Given the description of an element on the screen output the (x, y) to click on. 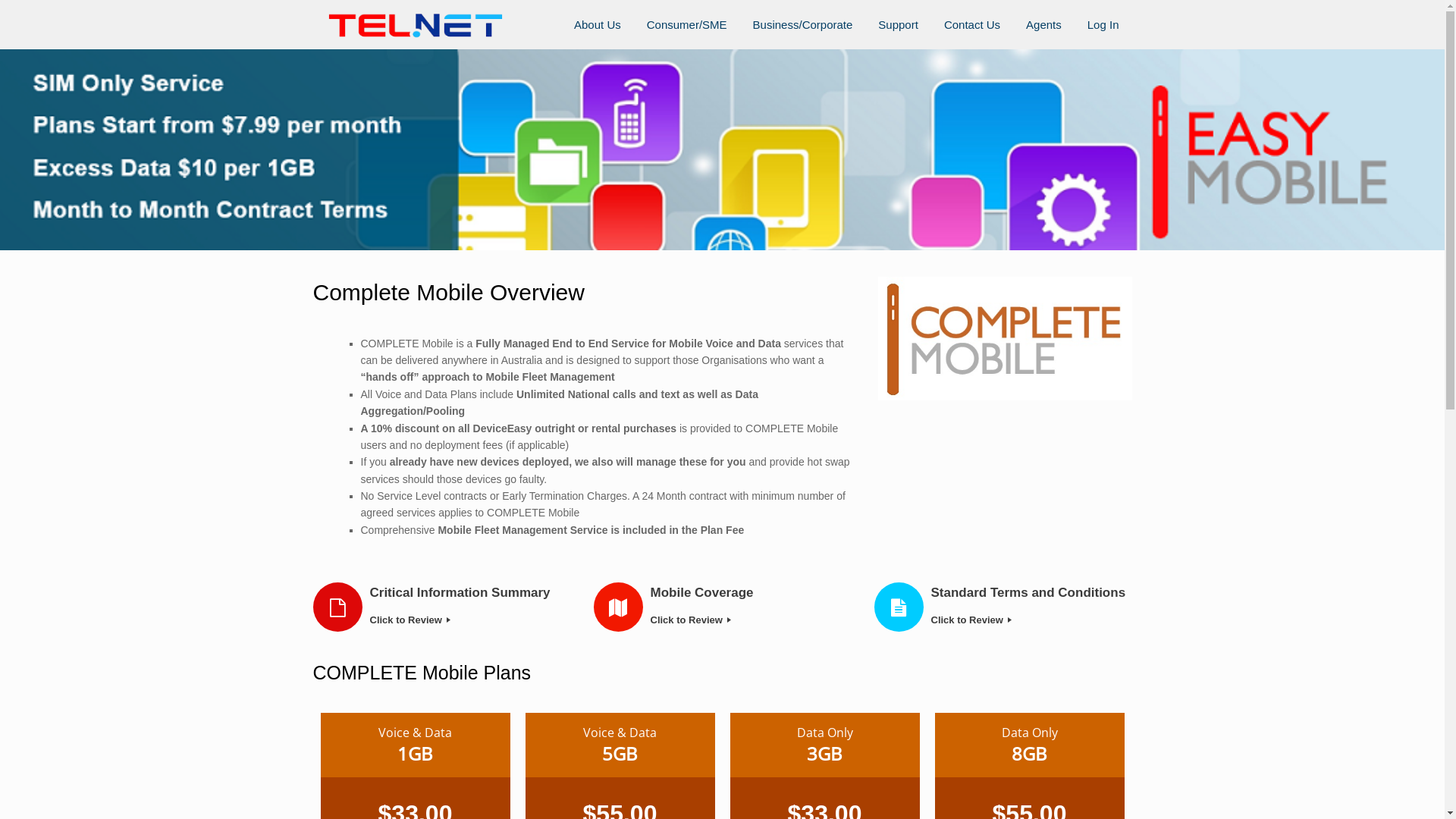
Contact Us Element type: text (972, 24)
Business/Corporate Element type: text (803, 24)
Tel.Net Element type: hover (414, 24)
Log In Element type: text (1103, 24)
About Us Element type: text (597, 24)
Click to Review Element type: text (1029, 619)
Critical Information Summary Element type: text (468, 592)
Mobile Coverage Element type: text (748, 592)
Agents Element type: text (1043, 24)
Support Element type: text (898, 24)
Click to Review Element type: text (468, 619)
Consumer/SME Element type: text (686, 24)
Click to Review Element type: text (748, 619)
Standard Terms and Conditions Element type: text (1029, 592)
